Given the description of an element on the screen output the (x, y) to click on. 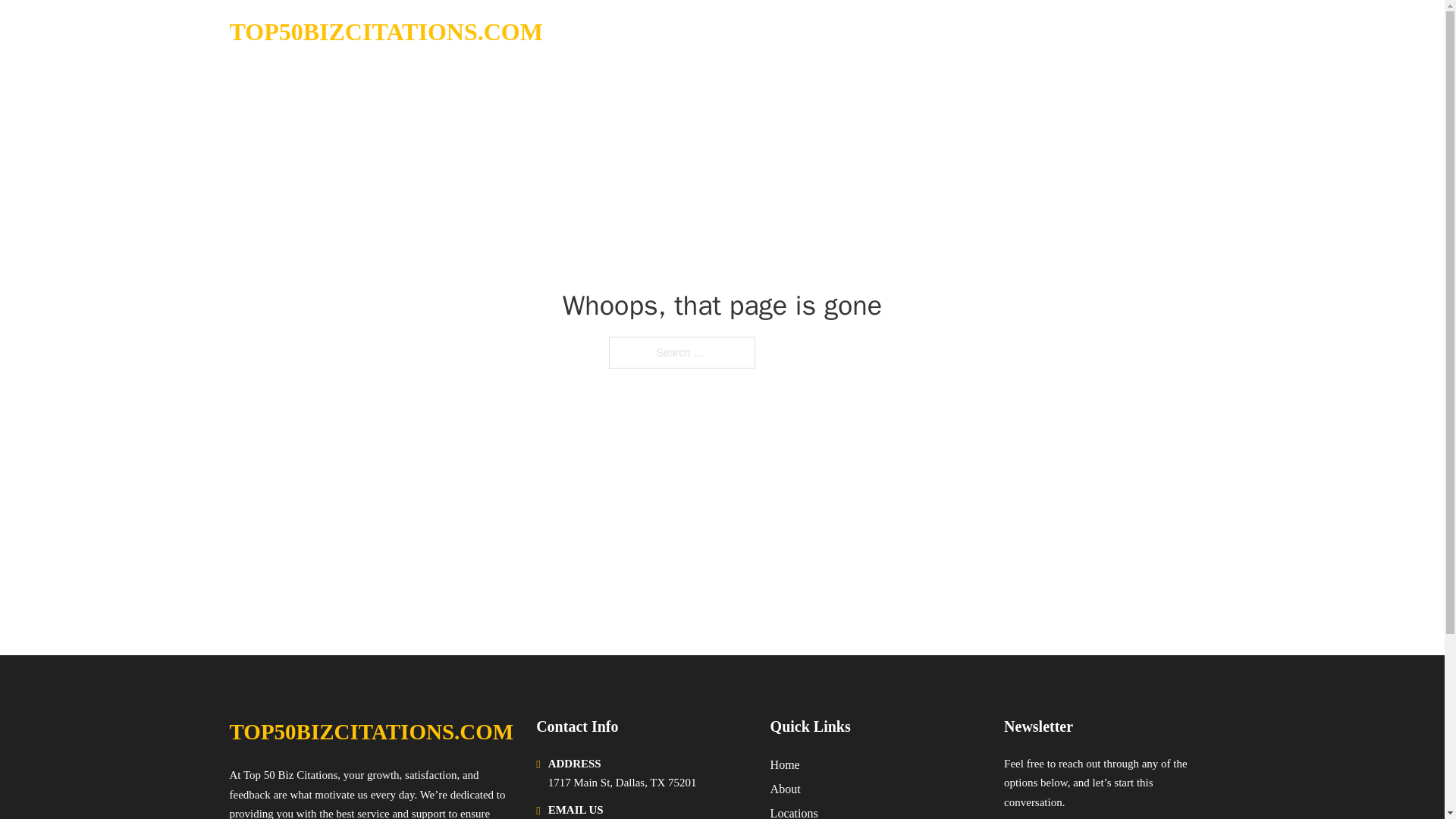
TOP50BIZCITATIONS.COM (370, 732)
HOME (1025, 31)
TOP50BIZCITATIONS.COM (384, 31)
About (785, 788)
LOCATIONS (1098, 31)
Locations (794, 811)
Home (784, 764)
